Given the description of an element on the screen output the (x, y) to click on. 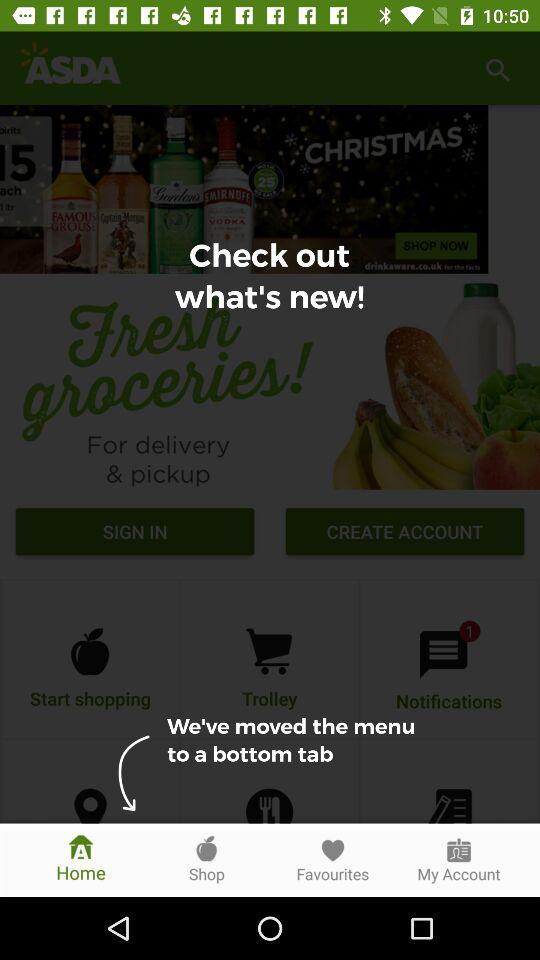
flip to create account (404, 534)
